Given the description of an element on the screen output the (x, y) to click on. 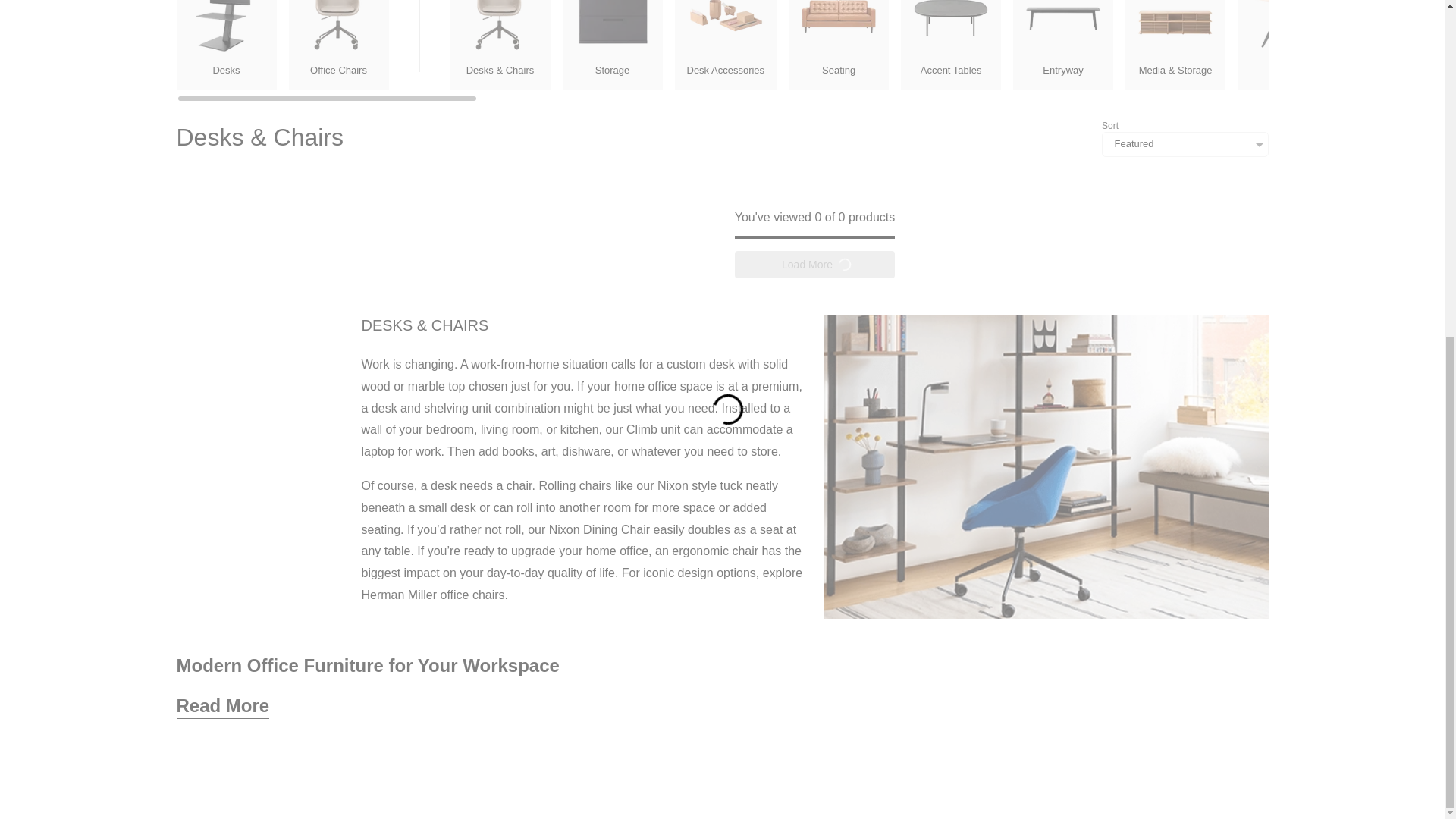
Office Chairs (338, 44)
Desks (226, 44)
Accent Tables (951, 44)
Storage (612, 44)
Seating (838, 44)
Desk Accessories (726, 44)
